Given the description of an element on the screen output the (x, y) to click on. 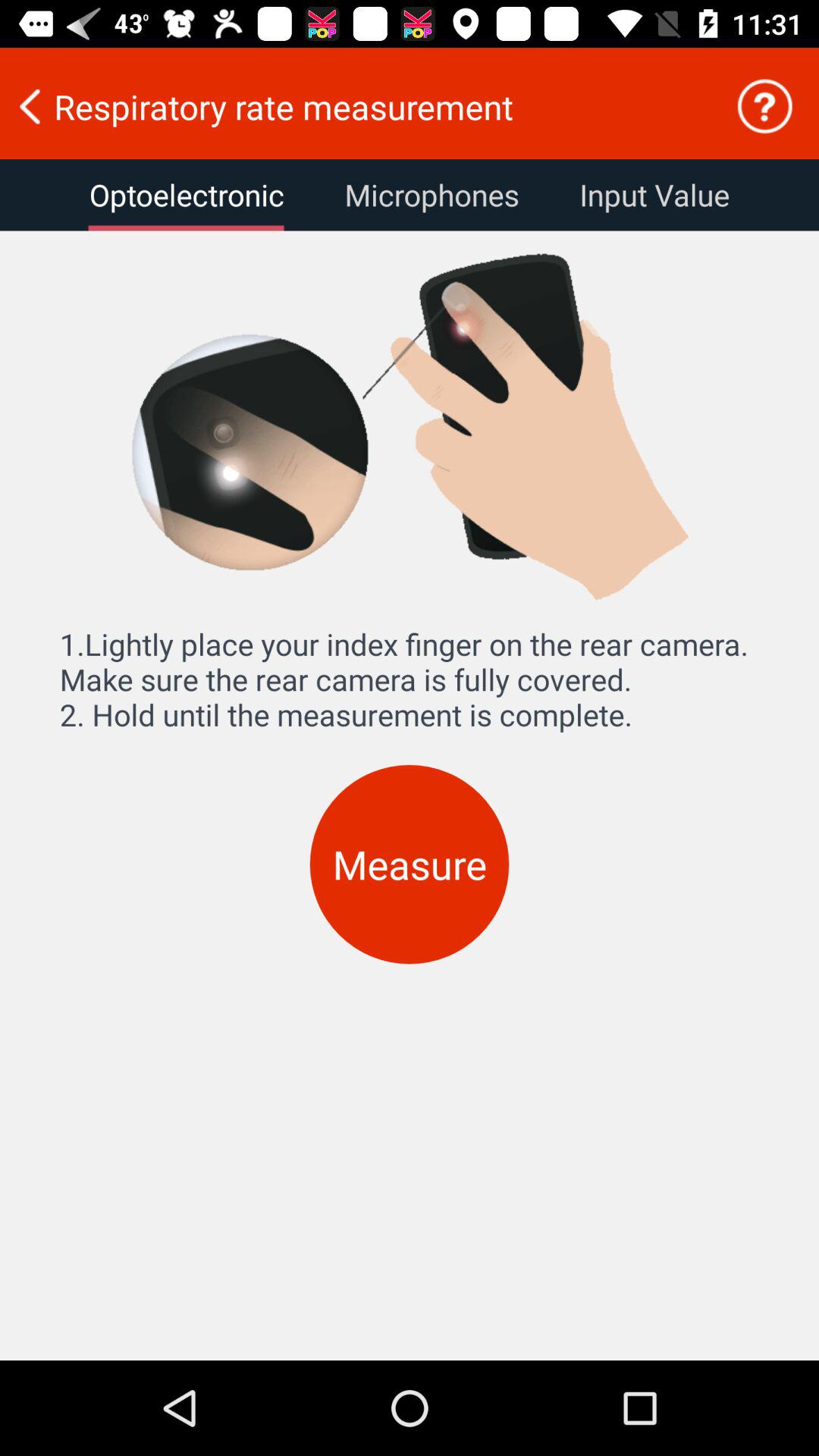
flip until the optoelectronic icon (186, 194)
